Given the description of an element on the screen output the (x, y) to click on. 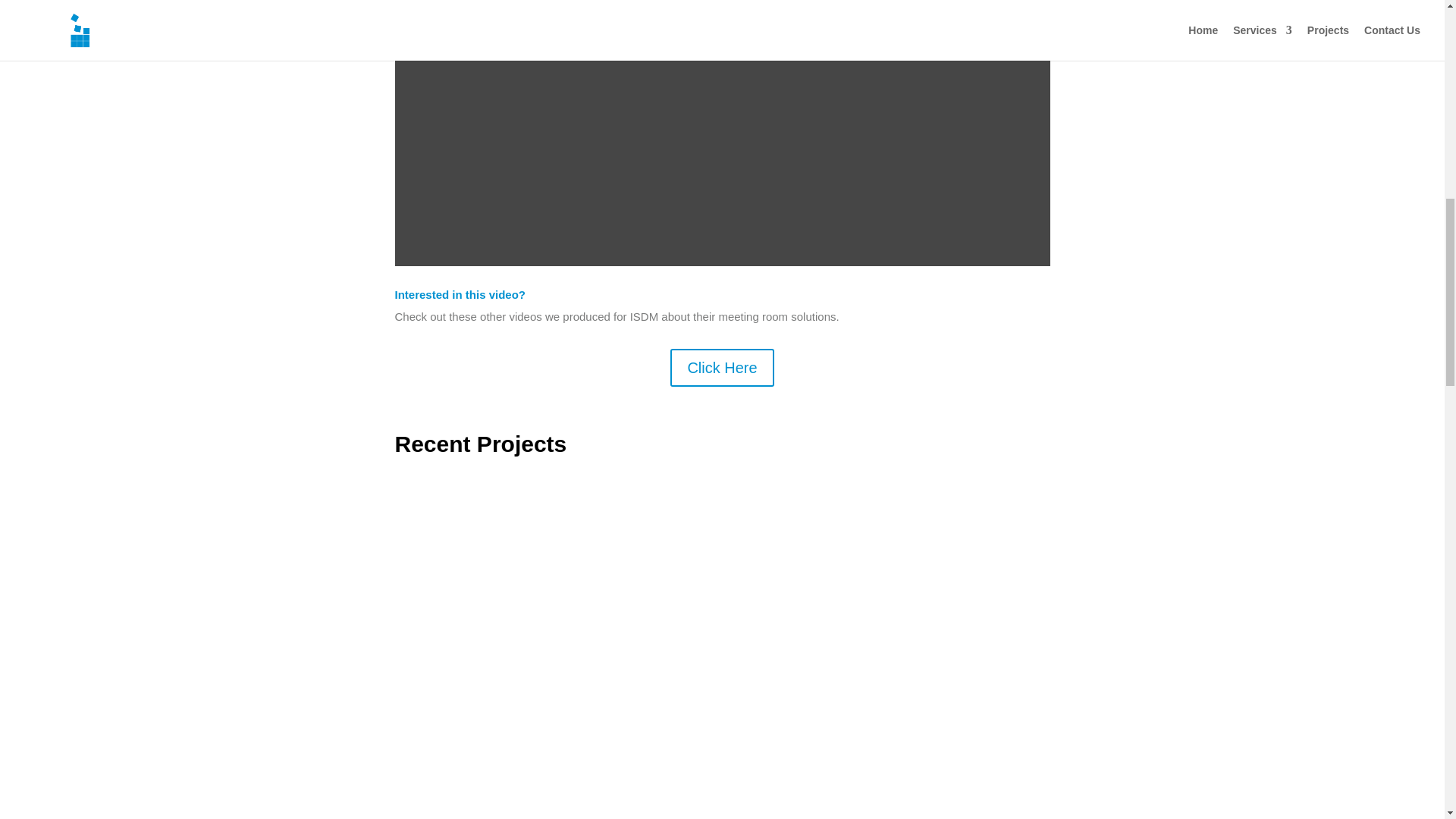
Click Here (721, 367)
